Given the description of an element on the screen output the (x, y) to click on. 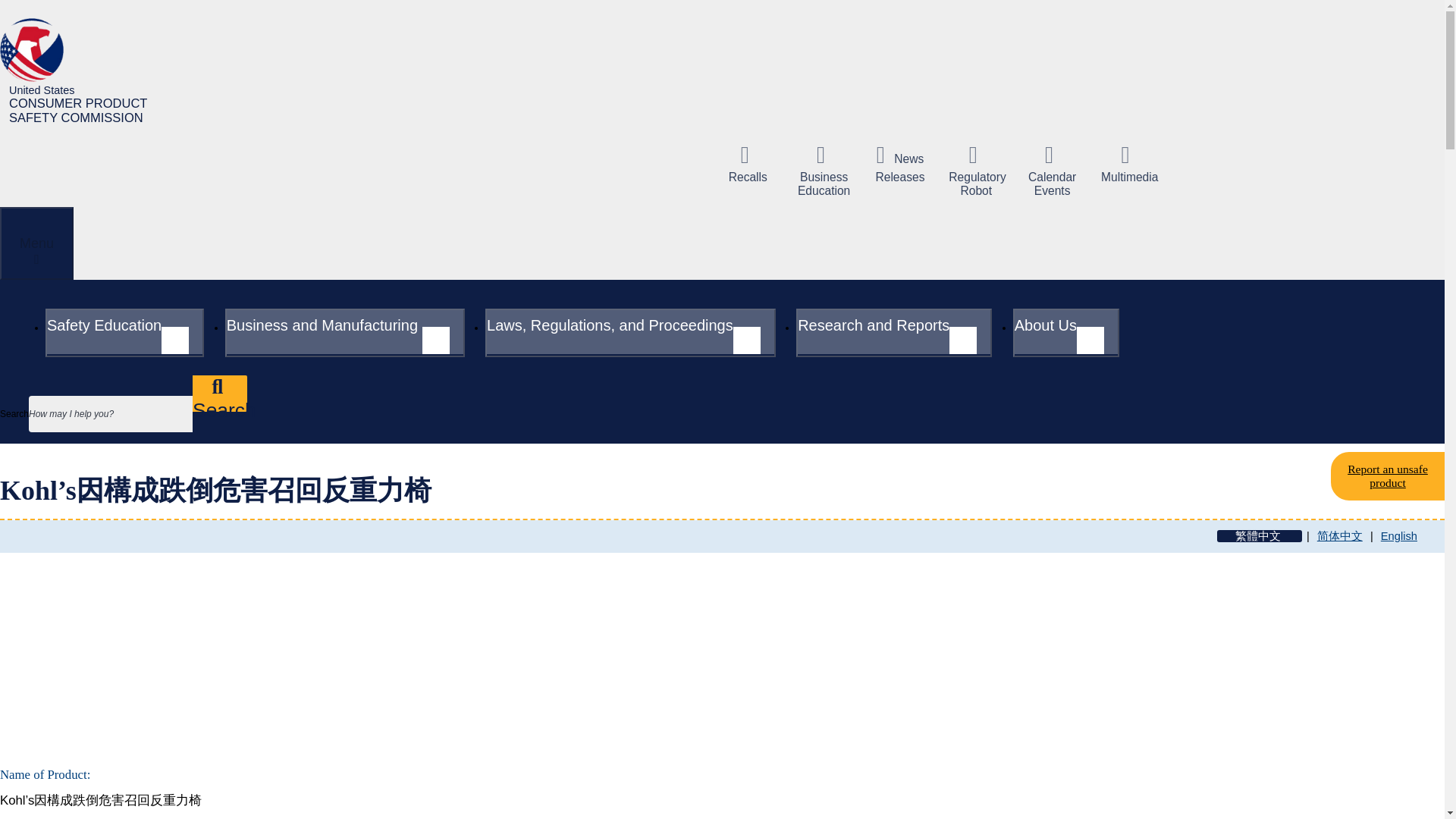
  Multimedia (1128, 163)
Recalls (747, 163)
Laws, Regulations, and Proceedings (630, 332)
 Search (219, 393)
  Recalls (747, 163)
Print Page (409, 628)
Menu (37, 243)
  News Releases (899, 163)
CPSC home (81, 71)
Safety Education (124, 332)
